Given the description of an element on the screen output the (x, y) to click on. 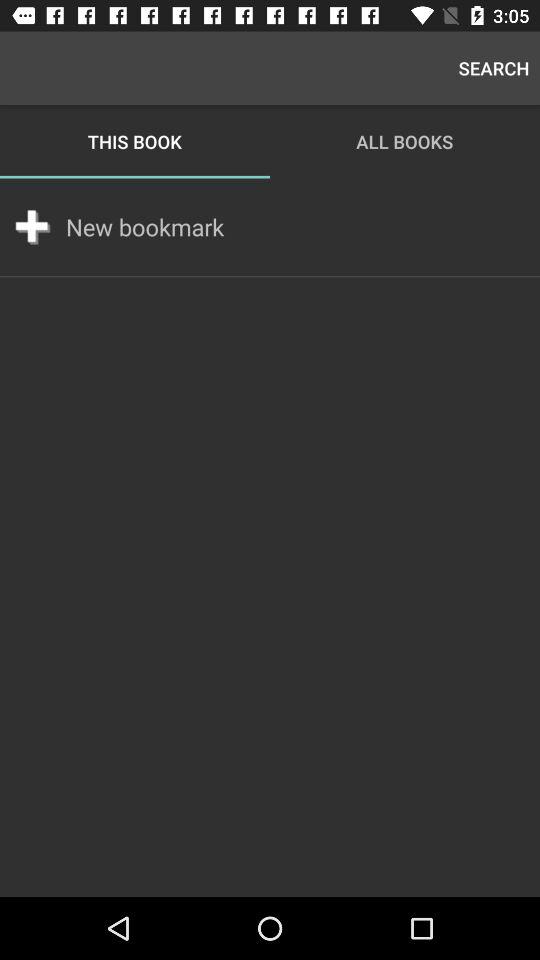
choose app next to this book icon (494, 67)
